Given the description of an element on the screen output the (x, y) to click on. 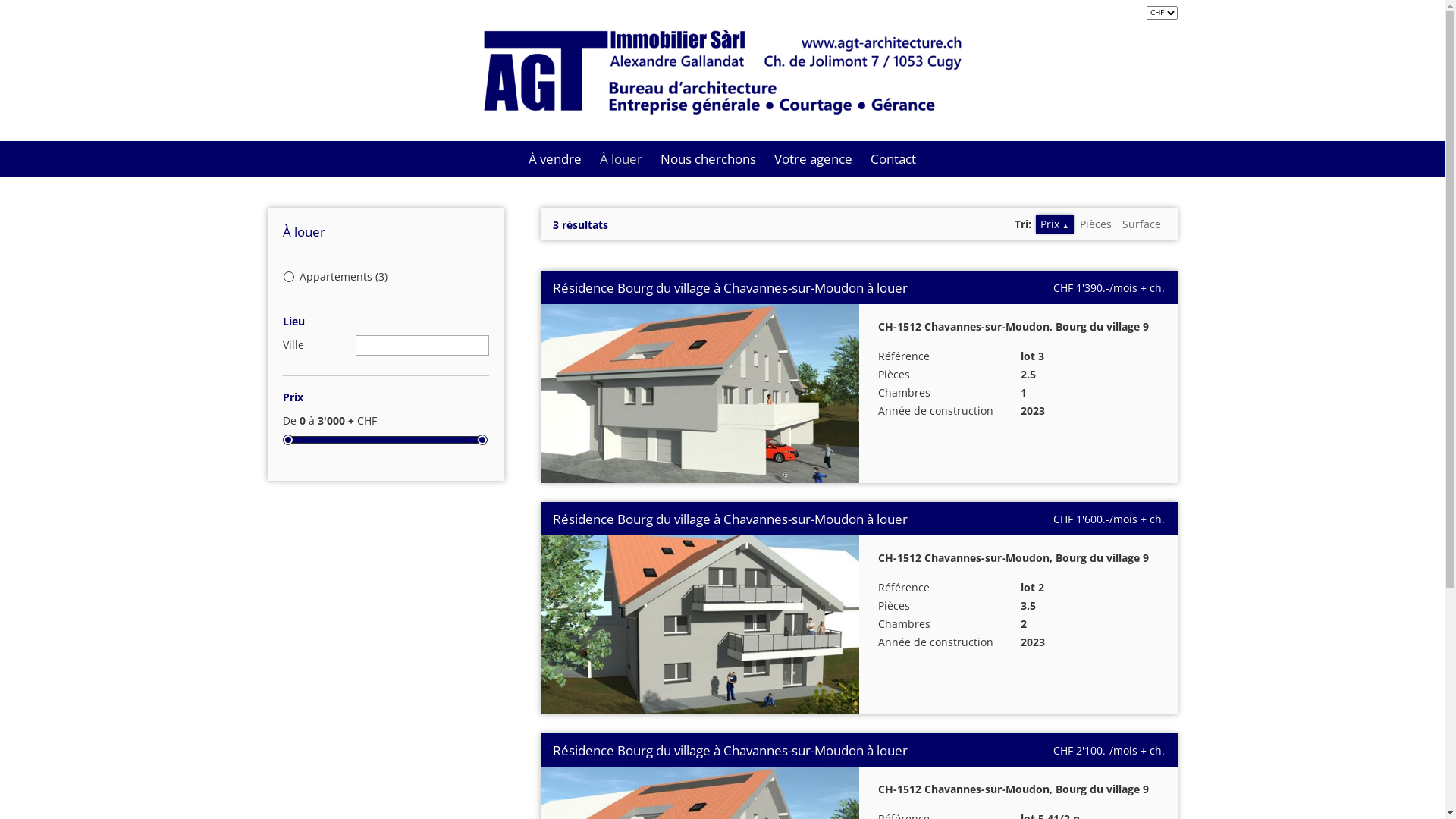
Surface Element type: text (1141, 223)
Contact Element type: text (893, 159)
Nous cherchons Element type: text (708, 159)
Votre agence Element type: text (813, 159)
